Given the description of an element on the screen output the (x, y) to click on. 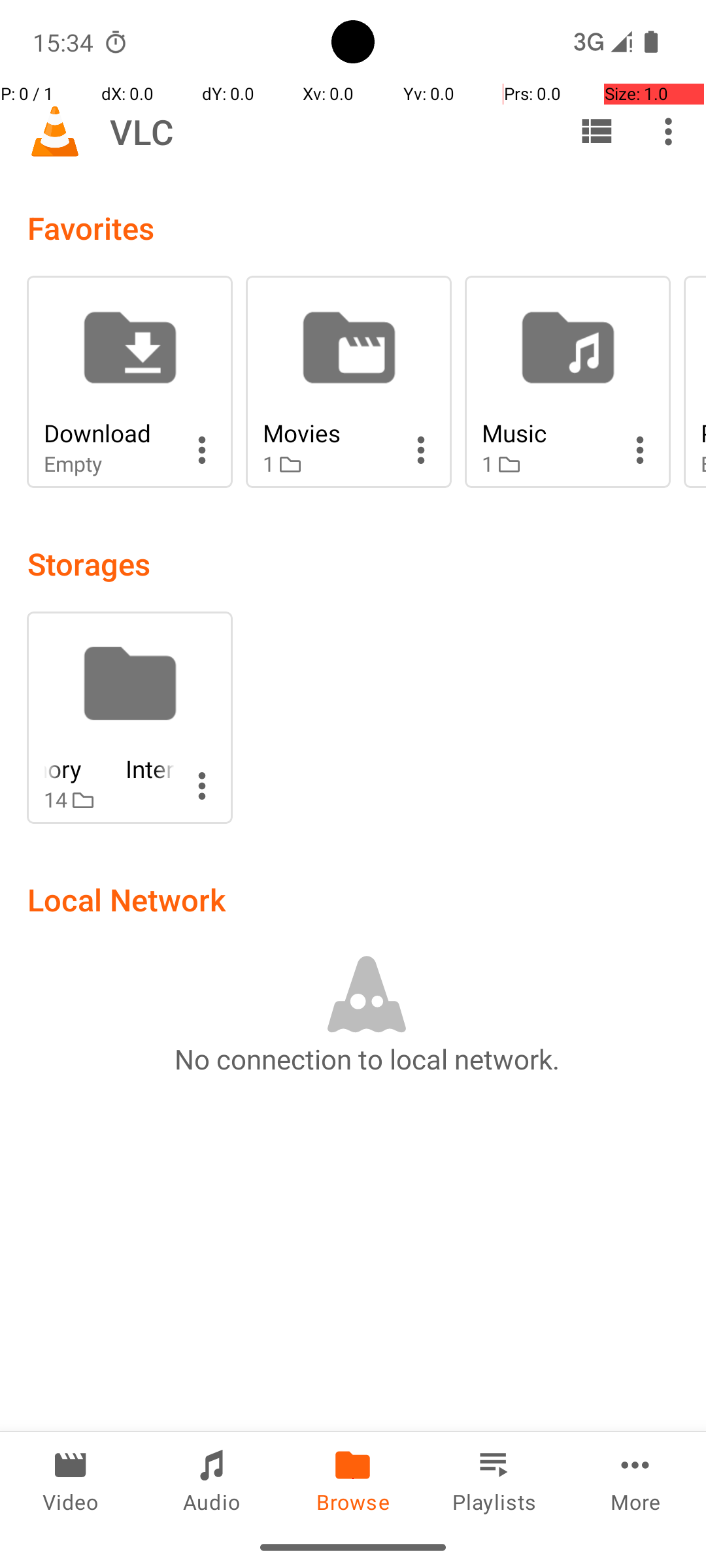
Favorite: Music, 1 subfolder Element type: androidx.cardview.widget.CardView (567, 381)
Favorite: Podcasts, Empty Element type: androidx.cardview.widget.CardView (694, 381)
Folder: Internal memory, 14 subfolders Element type: androidx.cardview.widget.CardView (129, 717)
14 §*§ Element type: android.widget.TextView (108, 799)
